Given the description of an element on the screen output the (x, y) to click on. 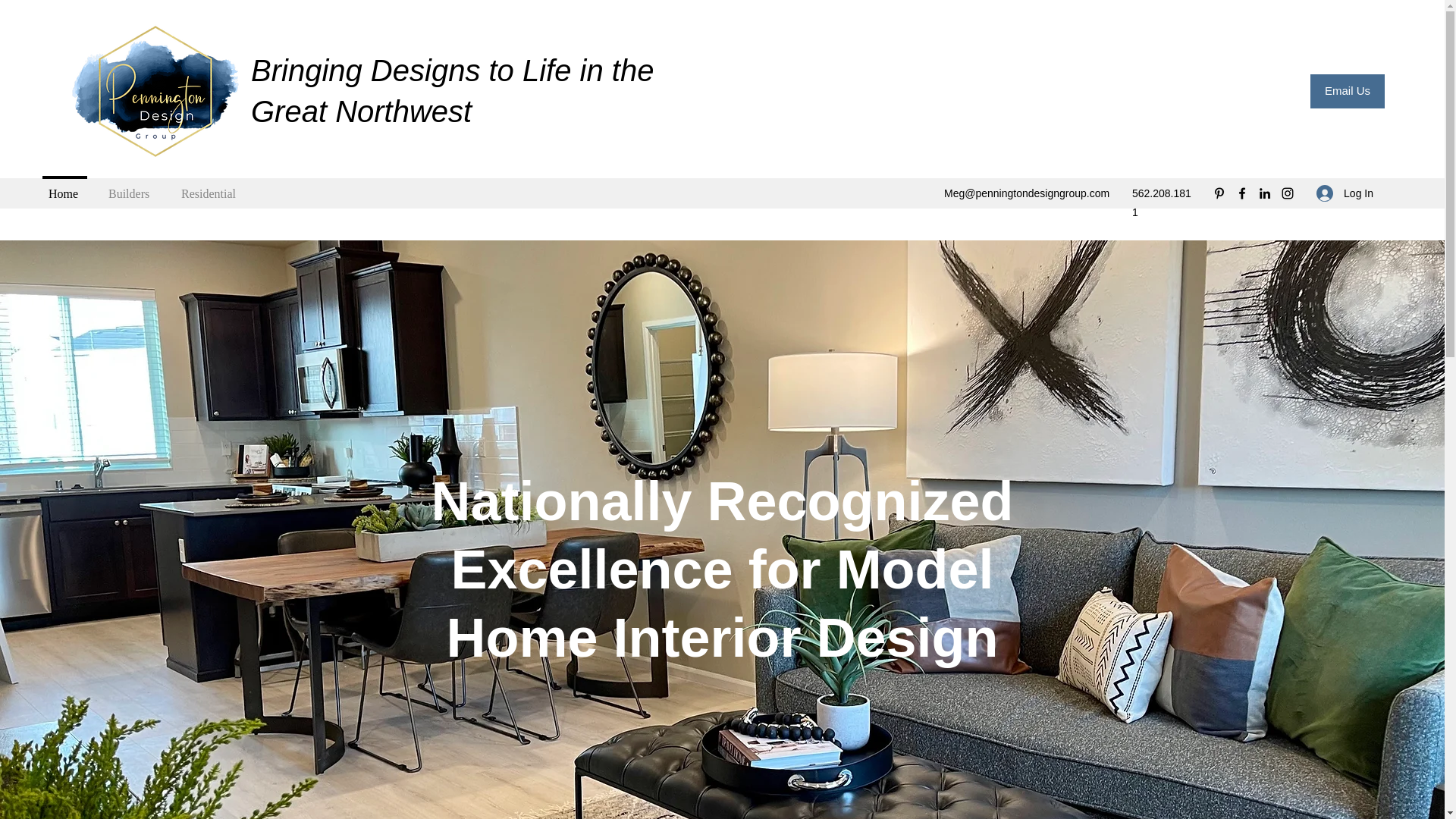
Builders (130, 187)
Home (64, 187)
Email Us (1347, 91)
Log In (1345, 193)
Residential (211, 187)
